Given the description of an element on the screen output the (x, y) to click on. 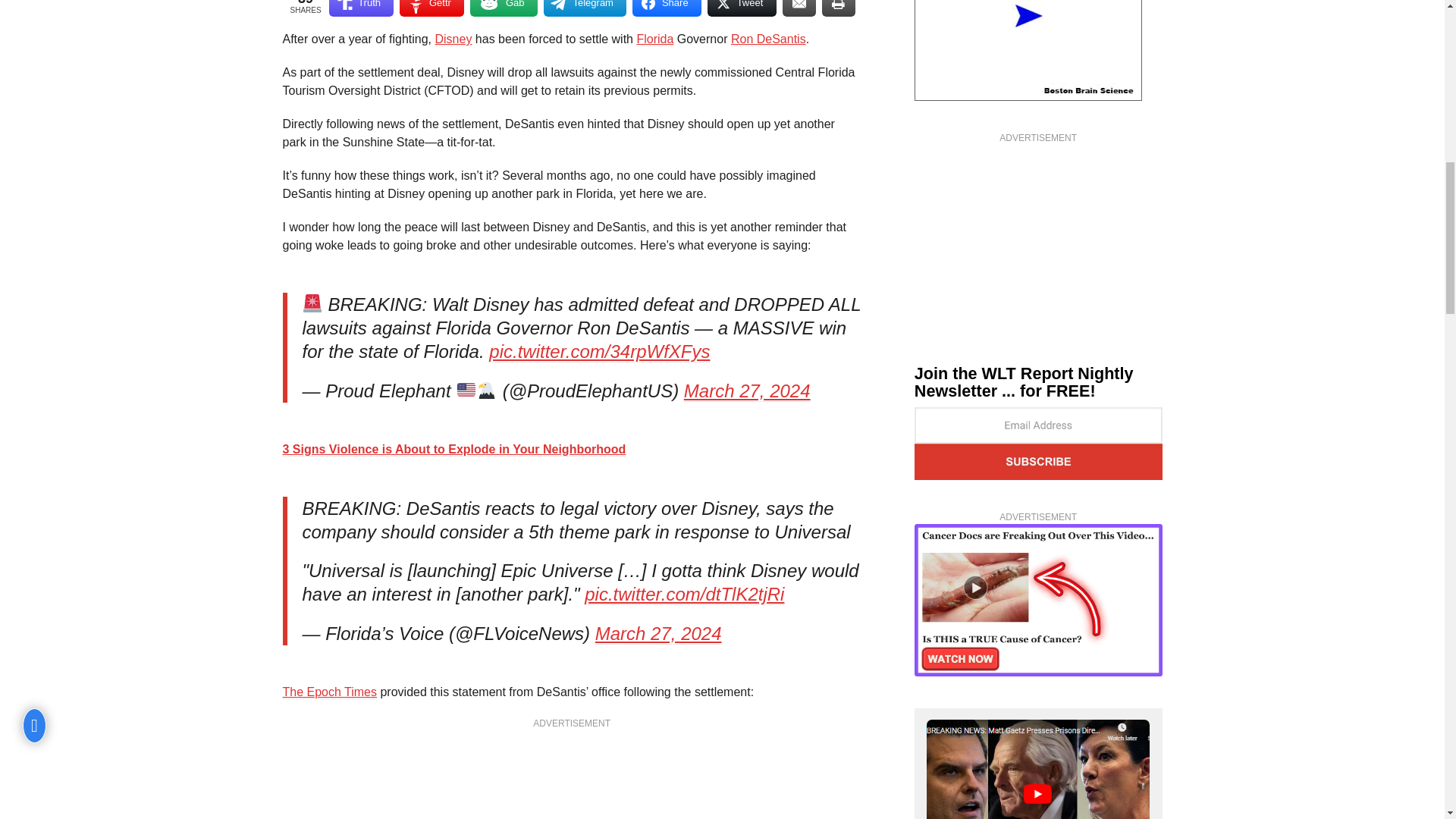
Share on Telegram (584, 8)
Share on Truth (361, 8)
Share on Share (666, 8)
Share on Tweet (741, 8)
Share on Gettr (431, 8)
Share on Gab (503, 8)
